Given the description of an element on the screen output the (x, y) to click on. 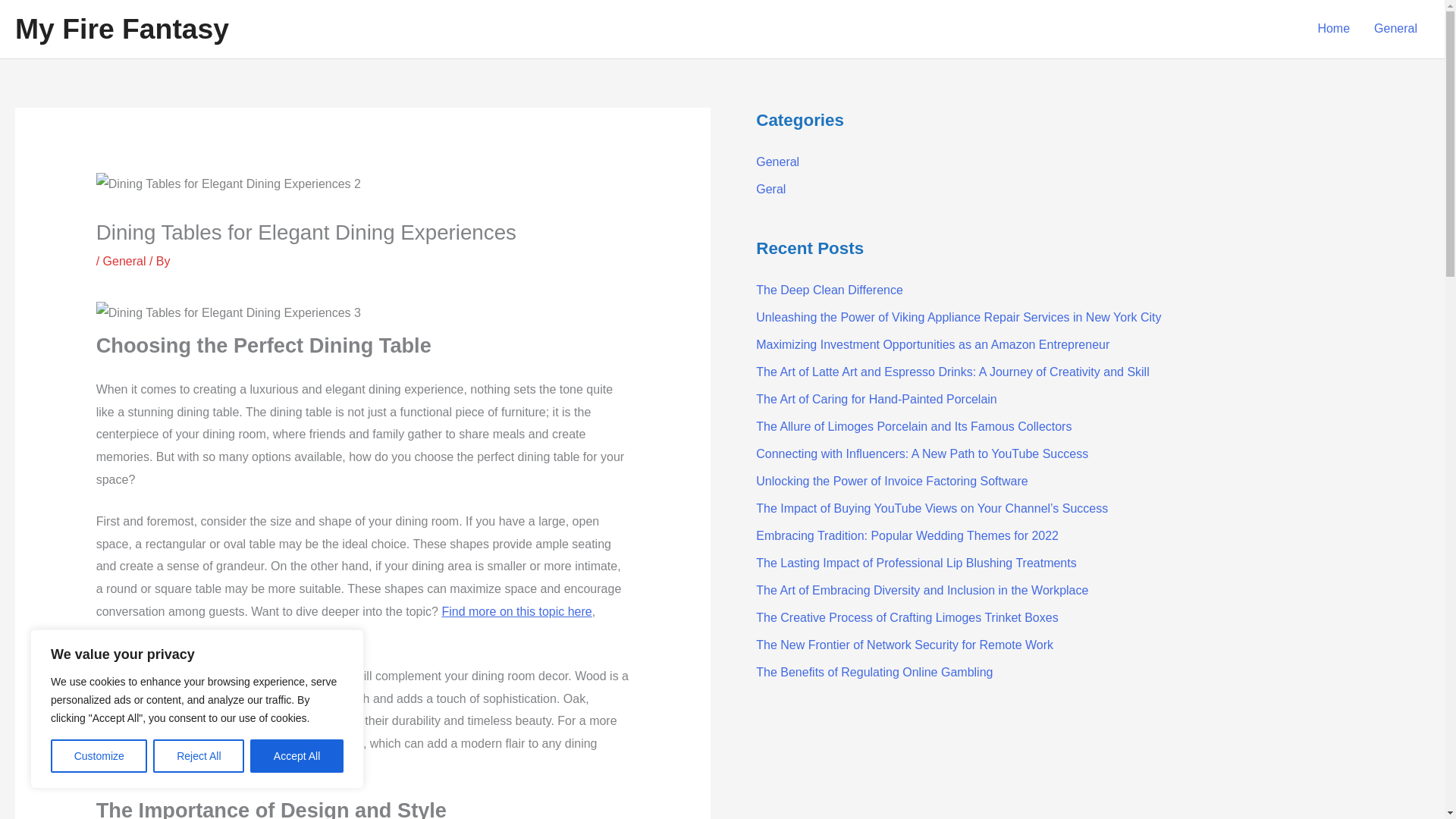
General (1395, 28)
My Fire Fantasy (121, 29)
The Deep Clean Difference (828, 289)
Customize (98, 756)
Accept All (296, 756)
General (777, 161)
Find more on this topic here (516, 611)
Geral (770, 188)
General (125, 260)
Home (1332, 28)
Reject All (198, 756)
